Given the description of an element on the screen output the (x, y) to click on. 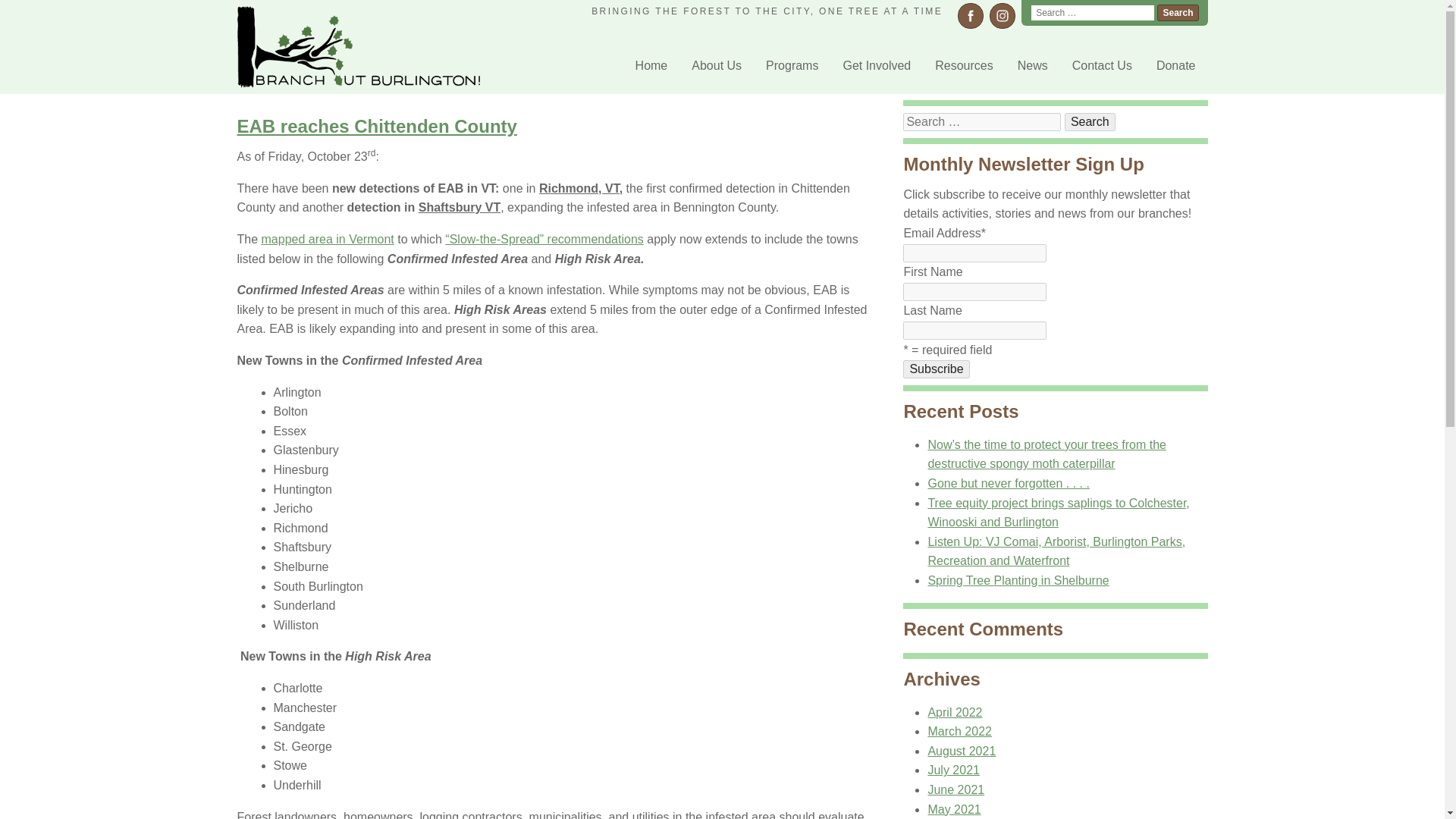
Search (1089, 122)
News (1032, 65)
Get Involved (877, 65)
Resources (963, 65)
Contact Us (1101, 65)
Search (1089, 122)
Programs (791, 65)
Subscribe (935, 369)
Search (1177, 12)
Home (651, 65)
Search (1177, 12)
Search (1177, 12)
Donate (1175, 65)
About Us (716, 65)
